Given the description of an element on the screen output the (x, y) to click on. 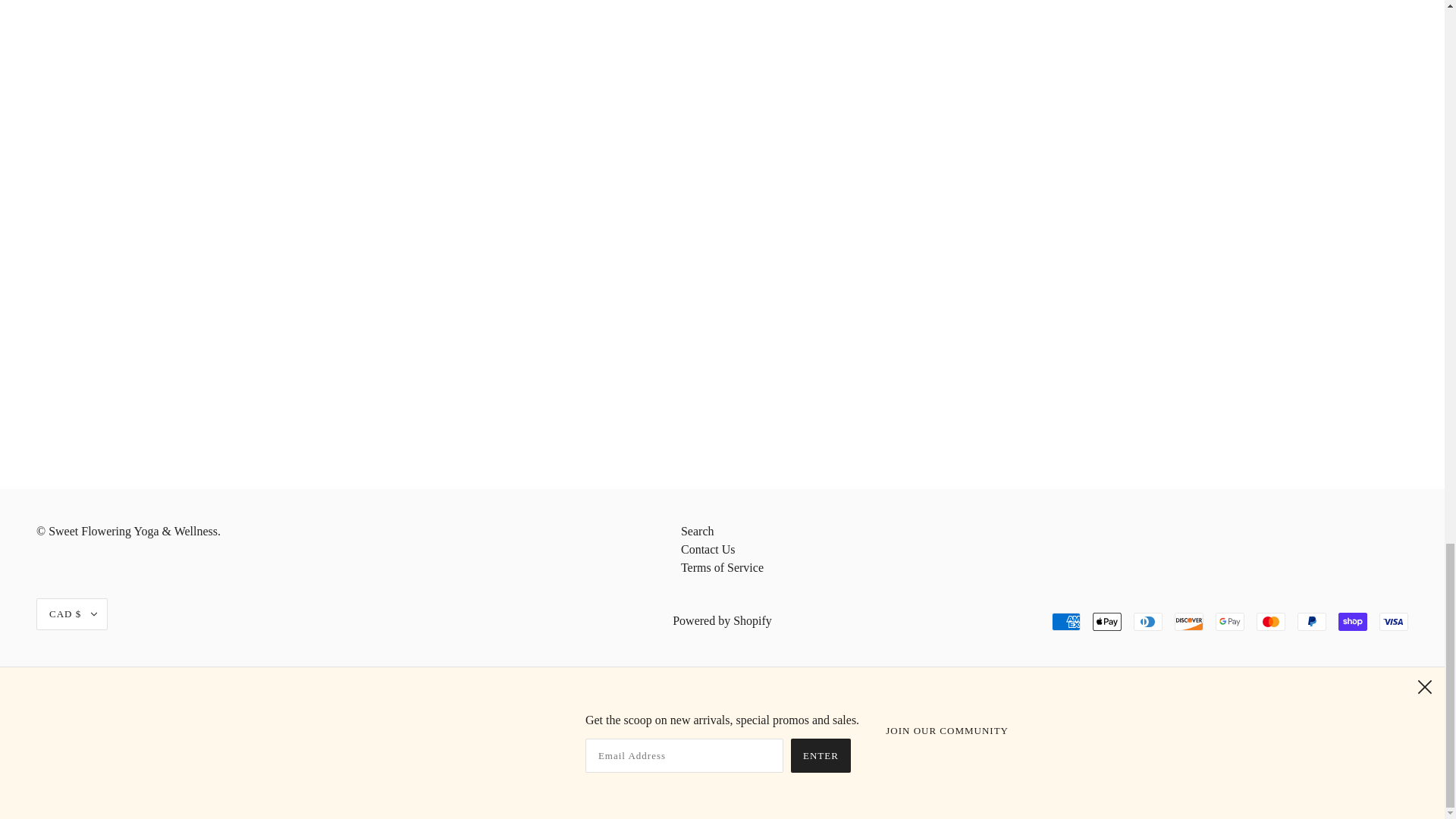
Discover (1189, 621)
Shop Pay (1352, 621)
Mastercard (1270, 621)
Search (697, 530)
Contact Us (708, 549)
American Express (1065, 621)
Visa (1392, 621)
Diners Club (1147, 621)
PayPal (1311, 621)
Search (697, 530)
